Given the description of an element on the screen output the (x, y) to click on. 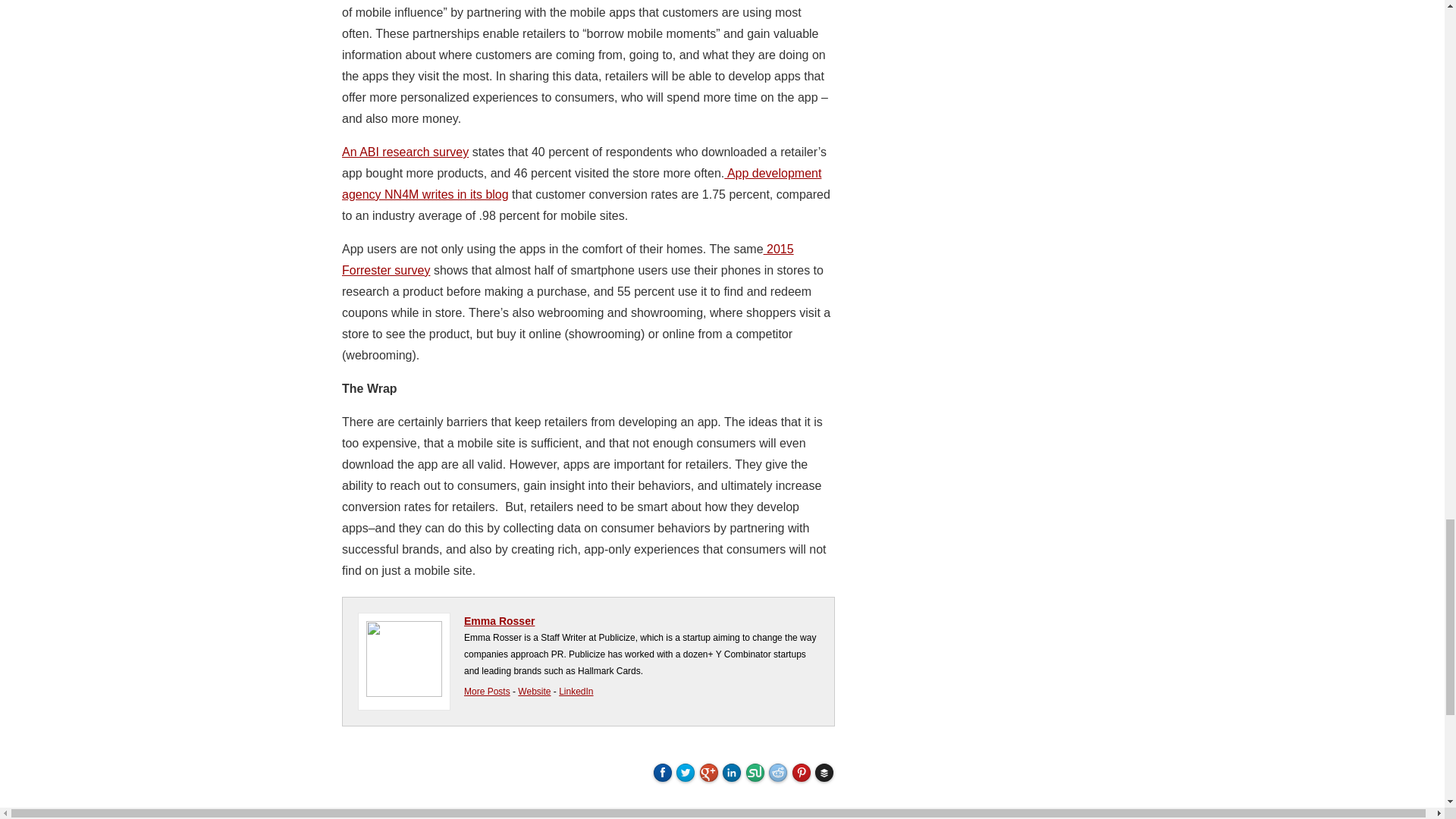
More posts by Emma Rosser (487, 691)
Emma Rosser (499, 621)
Emma Rosser (534, 691)
